Given the description of an element on the screen output the (x, y) to click on. 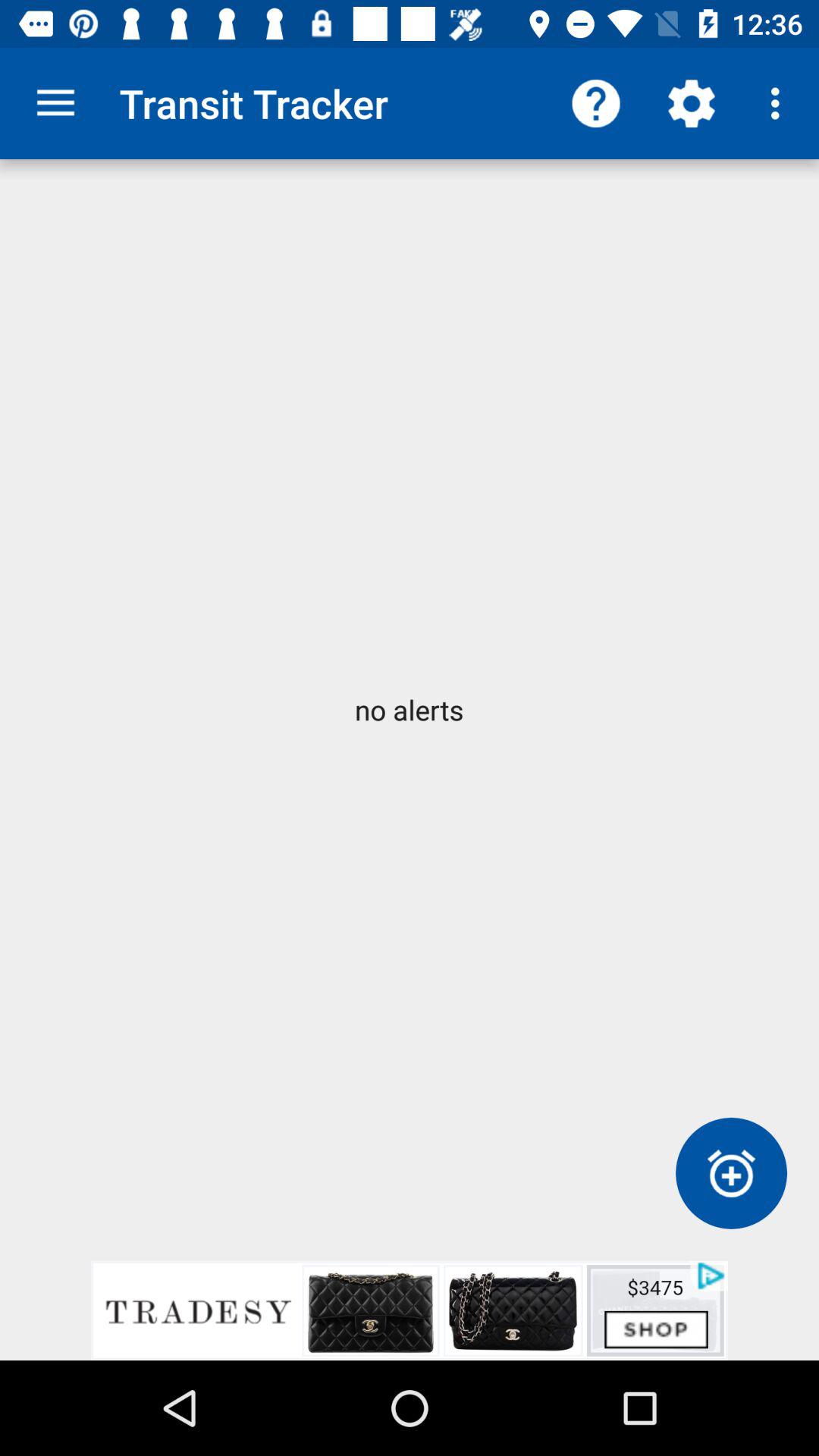
advertisement (409, 1310)
